Given the description of an element on the screen output the (x, y) to click on. 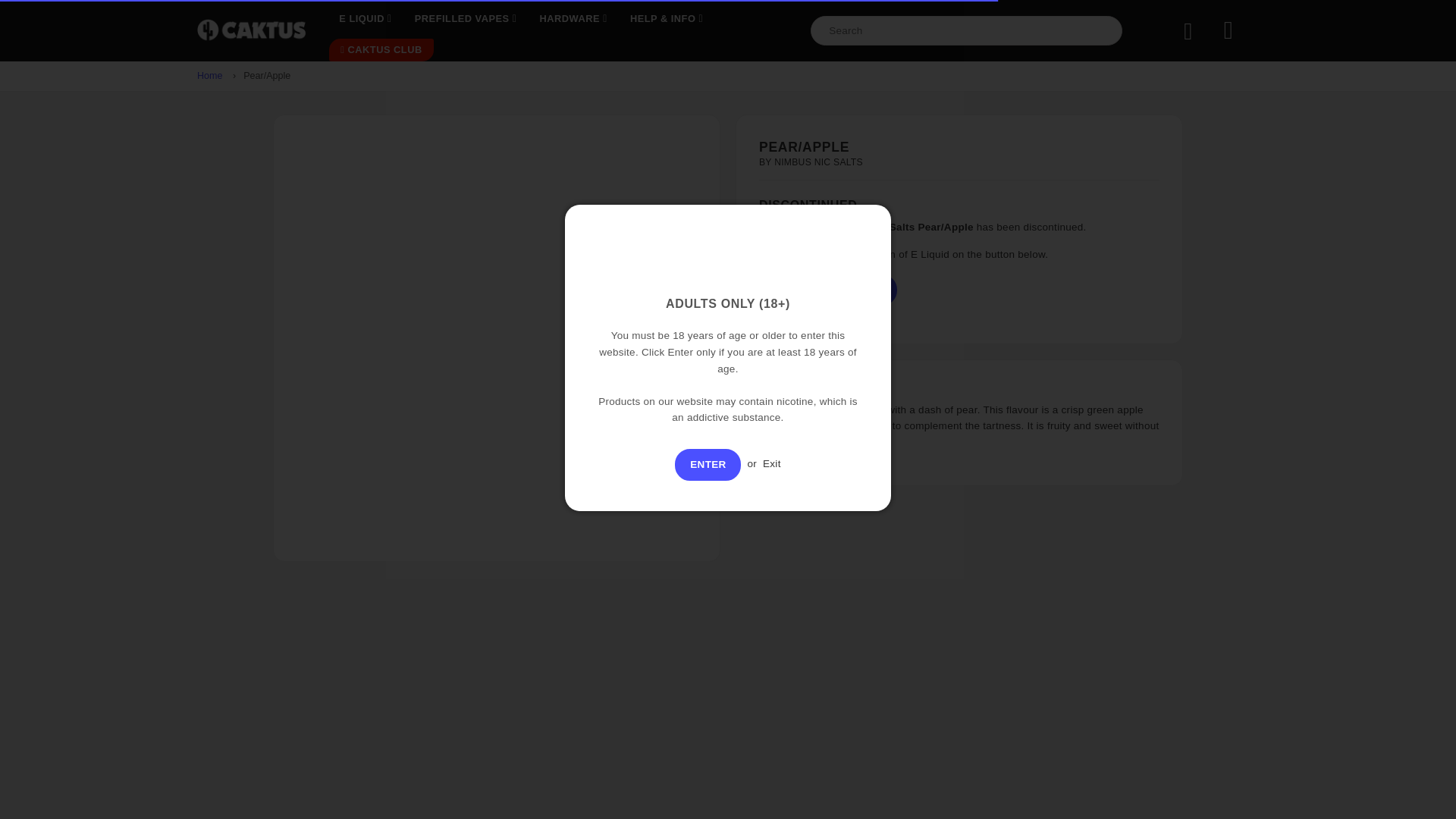
 E Liquid (365, 19)
Caktus Vape - Online Vape Shop (250, 30)
E LIQUID (365, 19)
Exit (771, 463)
ENTER (708, 464)
